Given the description of an element on the screen output the (x, y) to click on. 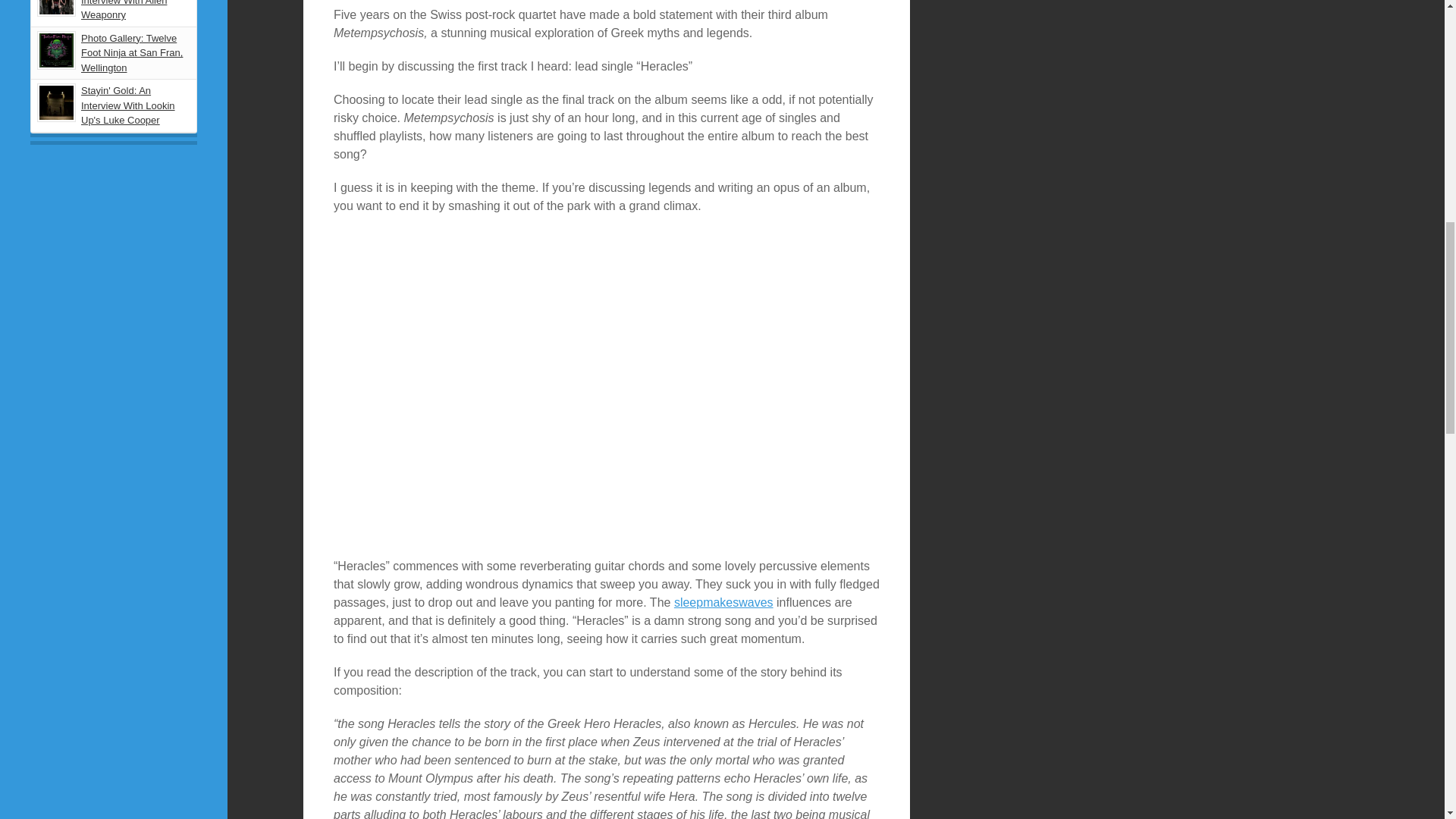
Photo Gallery: Twelve Foot Ninja at San Fran, Wellington (132, 52)
Stayin' Gold: An Interview With Lookin Up's Luke Cooper (127, 105)
